Given the description of an element on the screen output the (x, y) to click on. 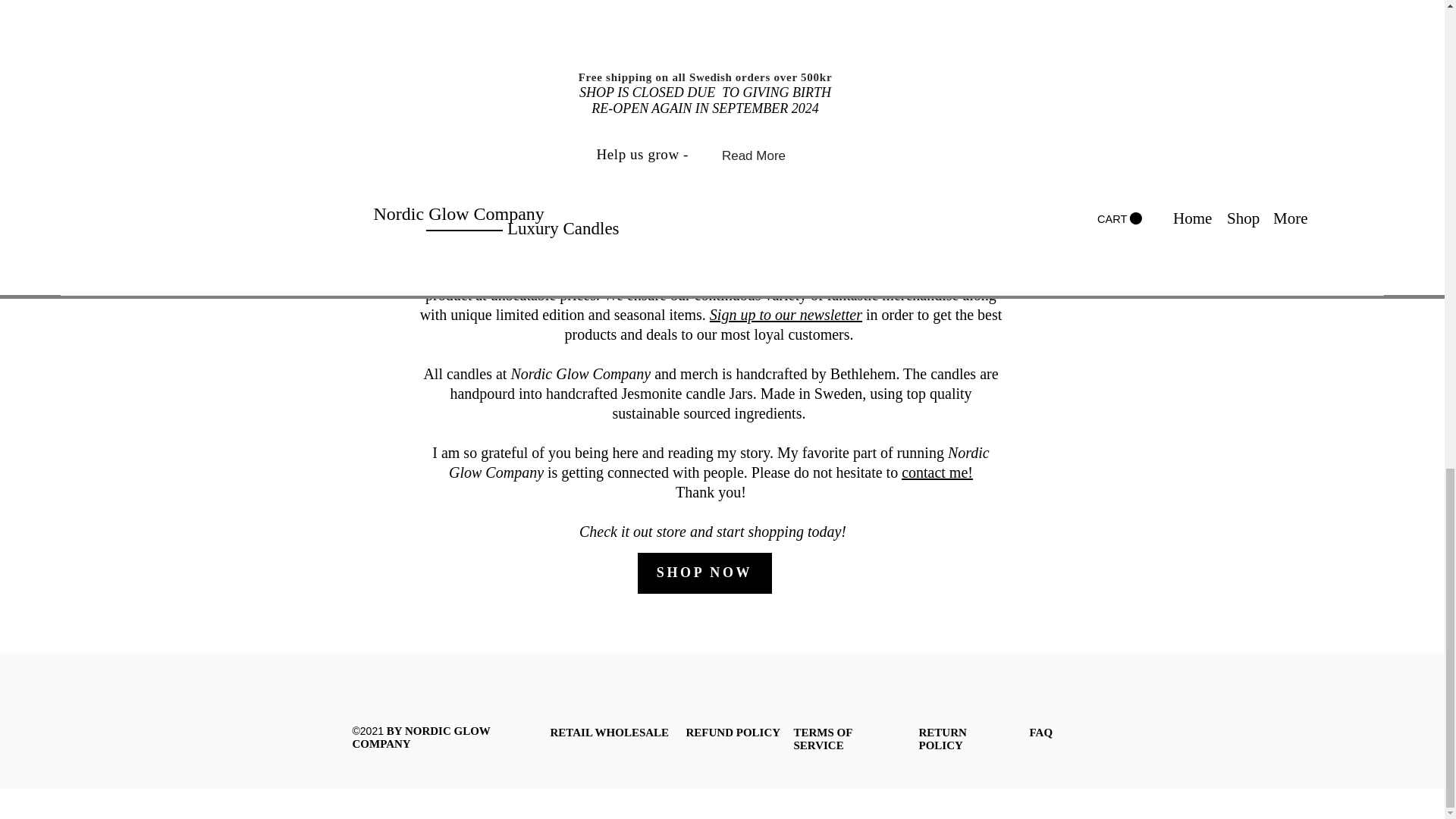
Sign up to our newsletter (785, 314)
RETAIL WHOLESALE (609, 732)
here.  (876, 176)
RETURN POLICY (942, 738)
TERMS OF SERVICE (822, 738)
contact me! (936, 472)
REFUND POLICY (732, 732)
SHOP NOW (704, 572)
